Given the description of an element on the screen output the (x, y) to click on. 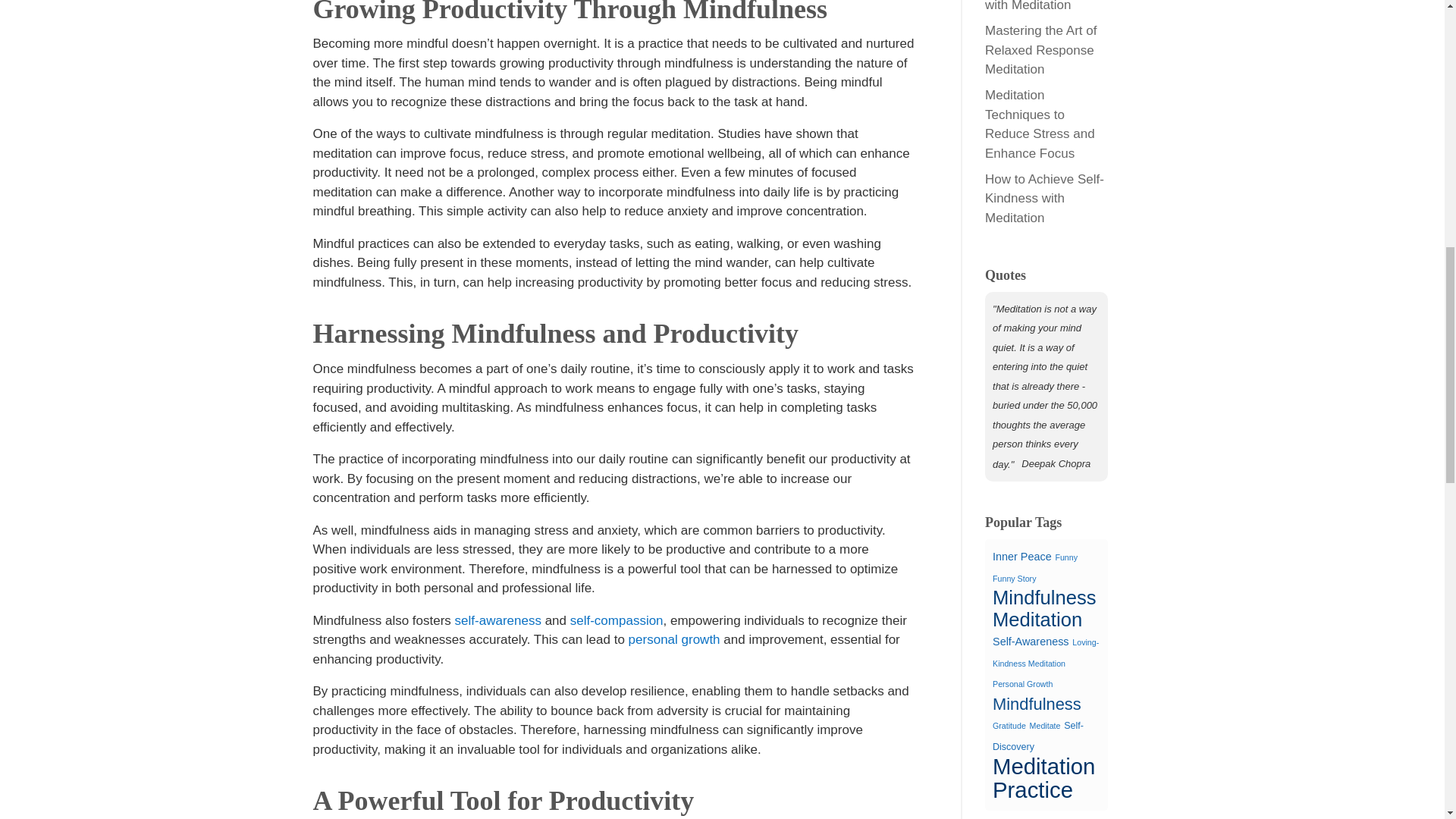
self-compassion (616, 620)
self-awareness (497, 620)
personal growth (674, 639)
